Given the description of an element on the screen output the (x, y) to click on. 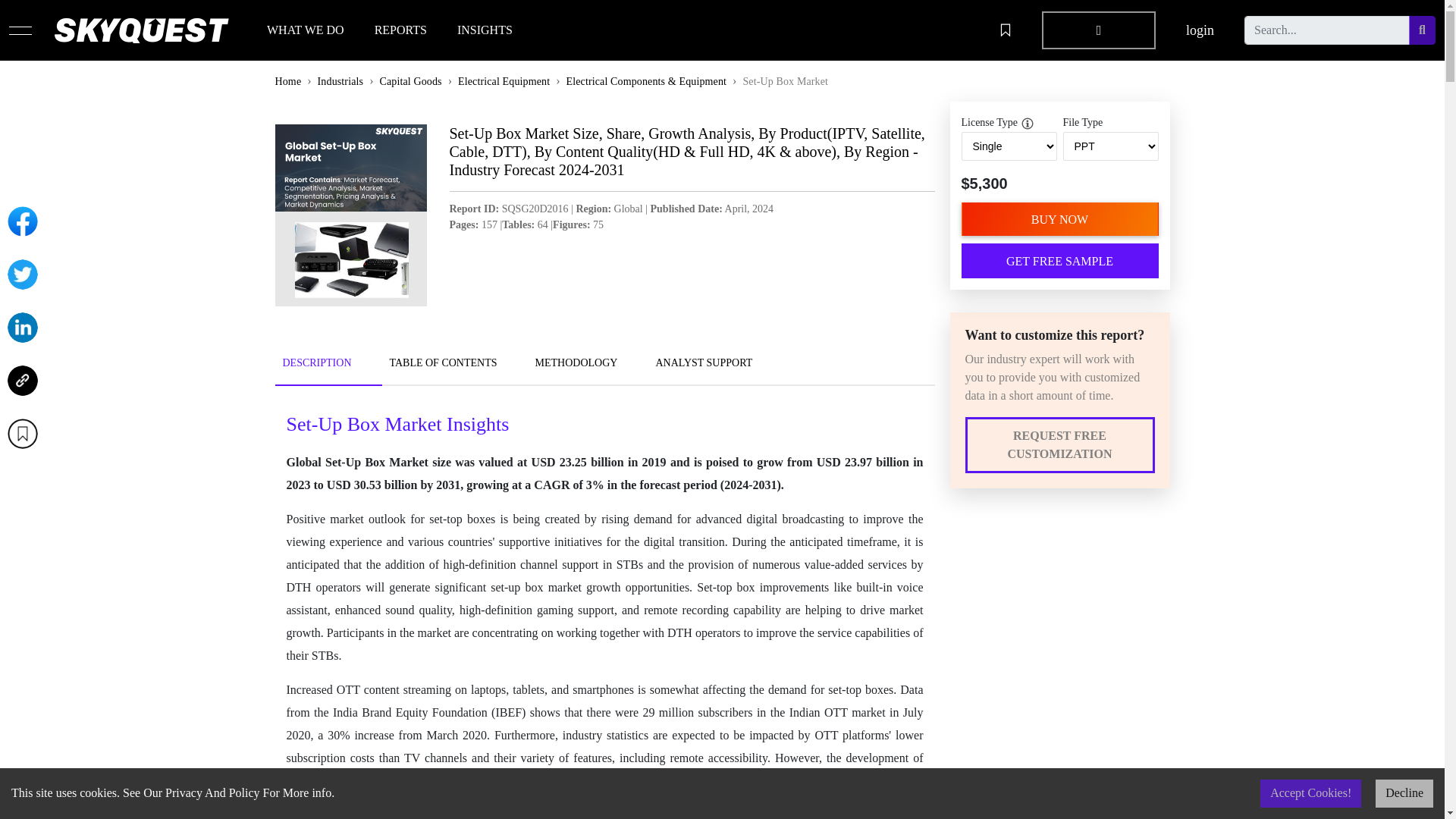
Technology Services (563, 556)
Contact Us (319, 645)
facebook (983, 579)
Consulting Services (561, 667)
Twitter (22, 274)
Privacy Policy (766, 556)
REPORTS (400, 30)
Innovation Services (561, 579)
Insights (311, 623)
Facebook (22, 221)
Cookies (750, 579)
Data Analytics Services (570, 623)
Reports (311, 601)
linkedin (981, 601)
International Development (577, 601)
